Given the description of an element on the screen output the (x, y) to click on. 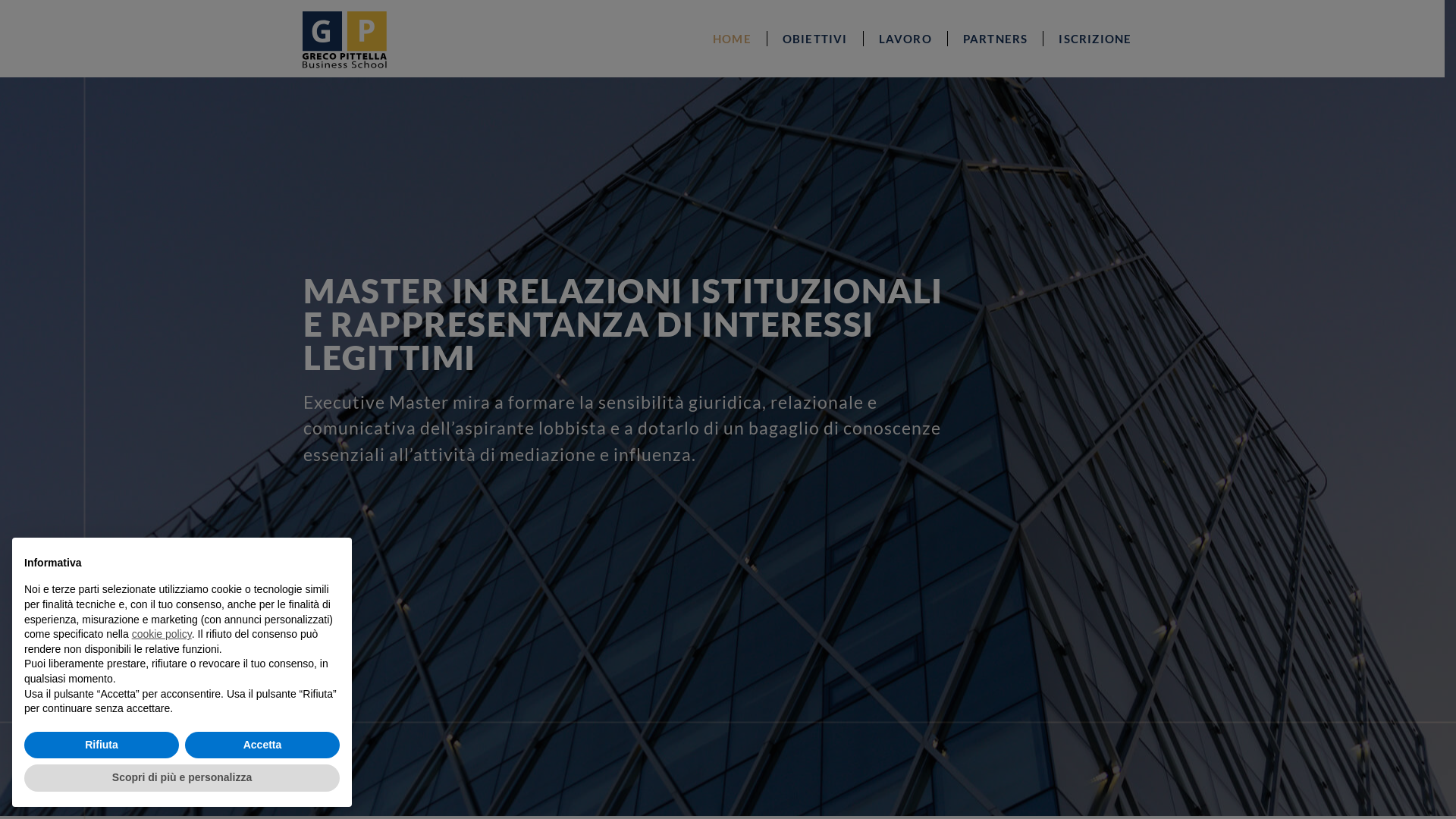
ISCRIZIONE Element type: text (1094, 38)
PARTNERS Element type: text (995, 38)
cookie policy Element type: text (161, 633)
HOME Element type: text (731, 38)
Accetta Element type: text (262, 745)
OBIETTIVI Element type: text (814, 38)
LAVORO Element type: text (905, 38)
Rifiuta Element type: text (101, 745)
